Given the description of an element on the screen output the (x, y) to click on. 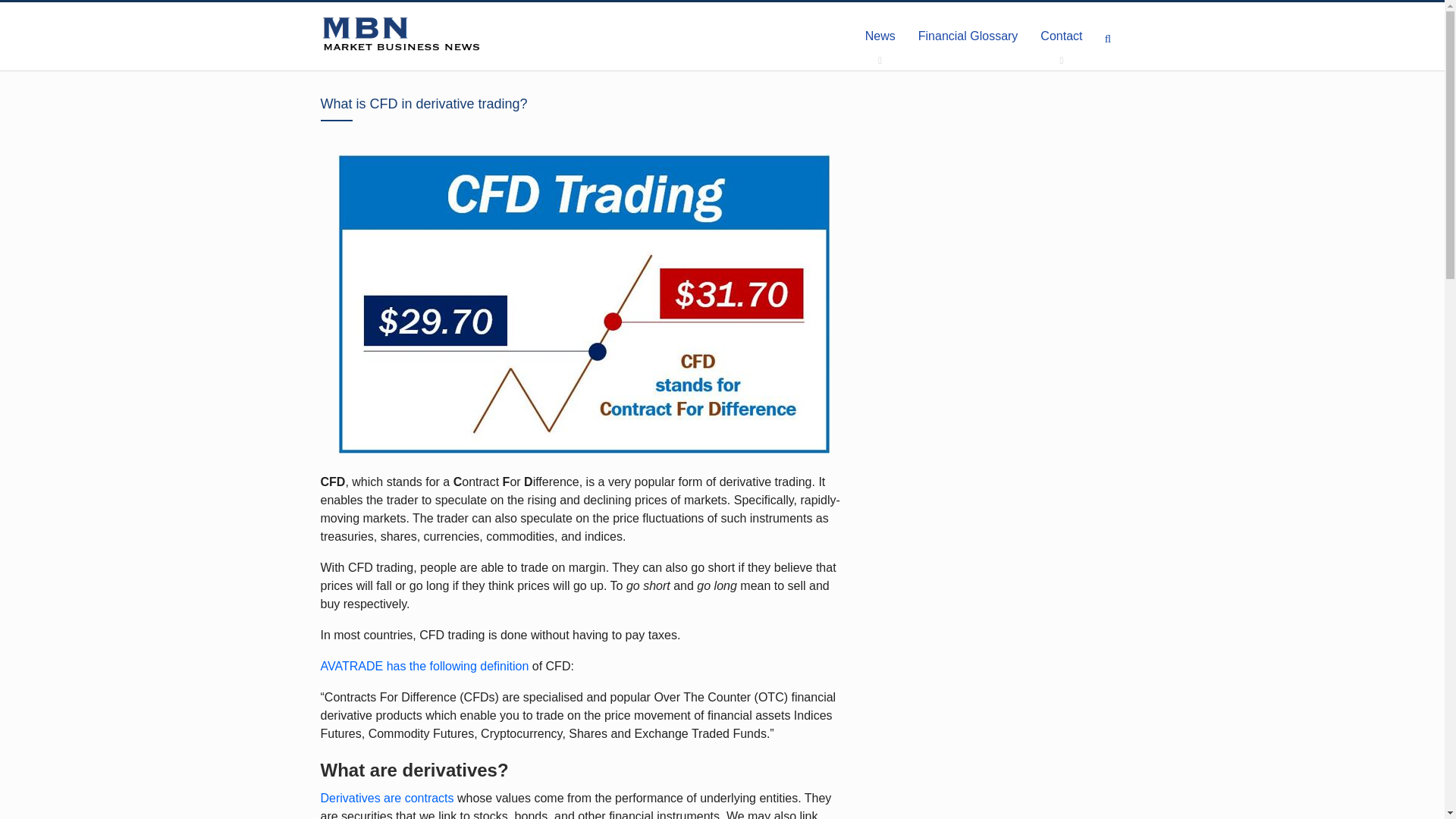
Financial Glossary (968, 36)
Contact (1061, 36)
AVATRADE has the following definition (424, 666)
Derivatives are contracts (386, 797)
